Given the description of an element on the screen output the (x, y) to click on. 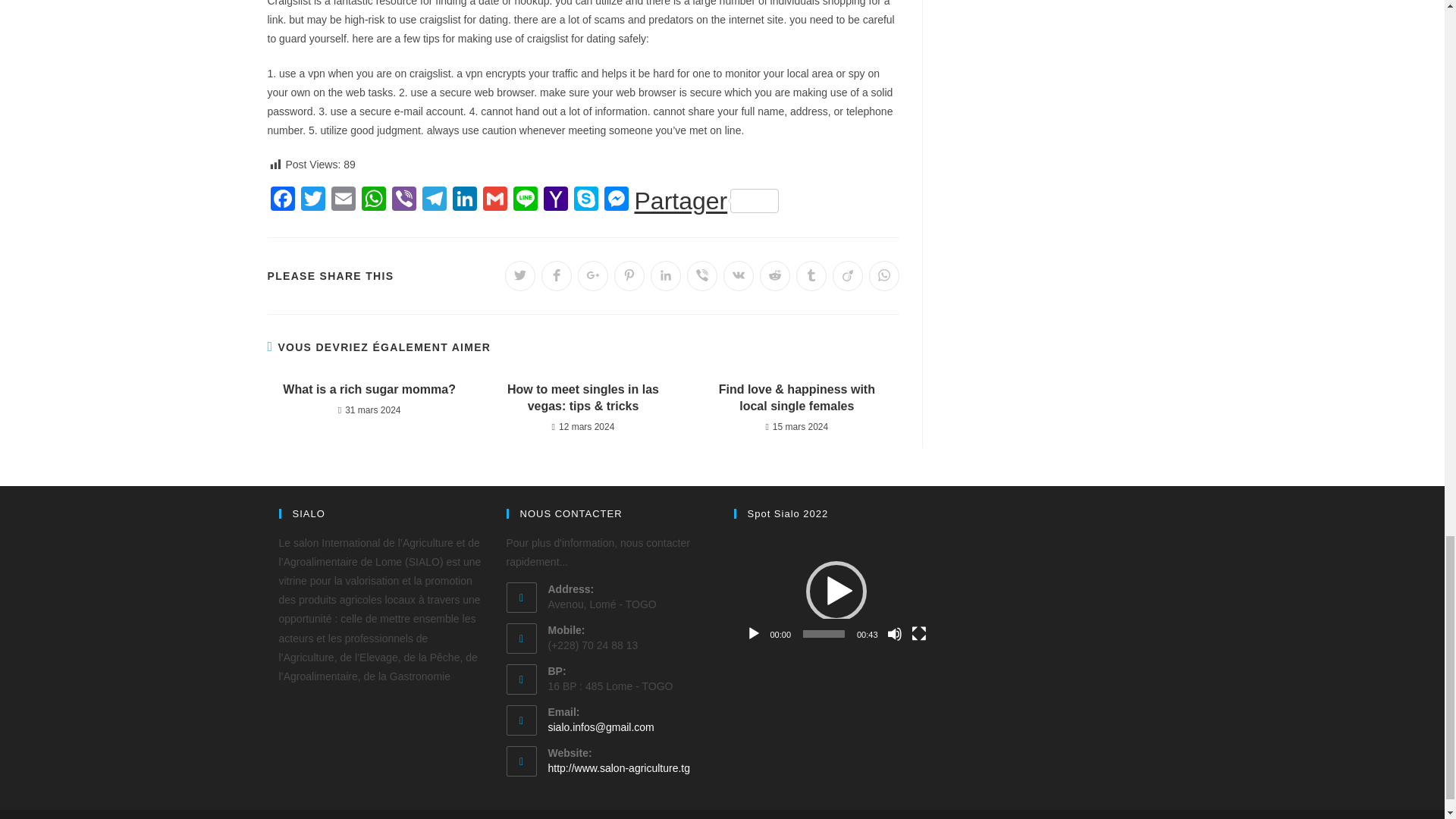
Telegram (433, 200)
LinkedIn (463, 200)
Email (342, 200)
Facebook (281, 200)
Twitter (312, 200)
Viber (403, 200)
WhatsApp (373, 200)
Gmail (494, 200)
